Given the description of an element on the screen output the (x, y) to click on. 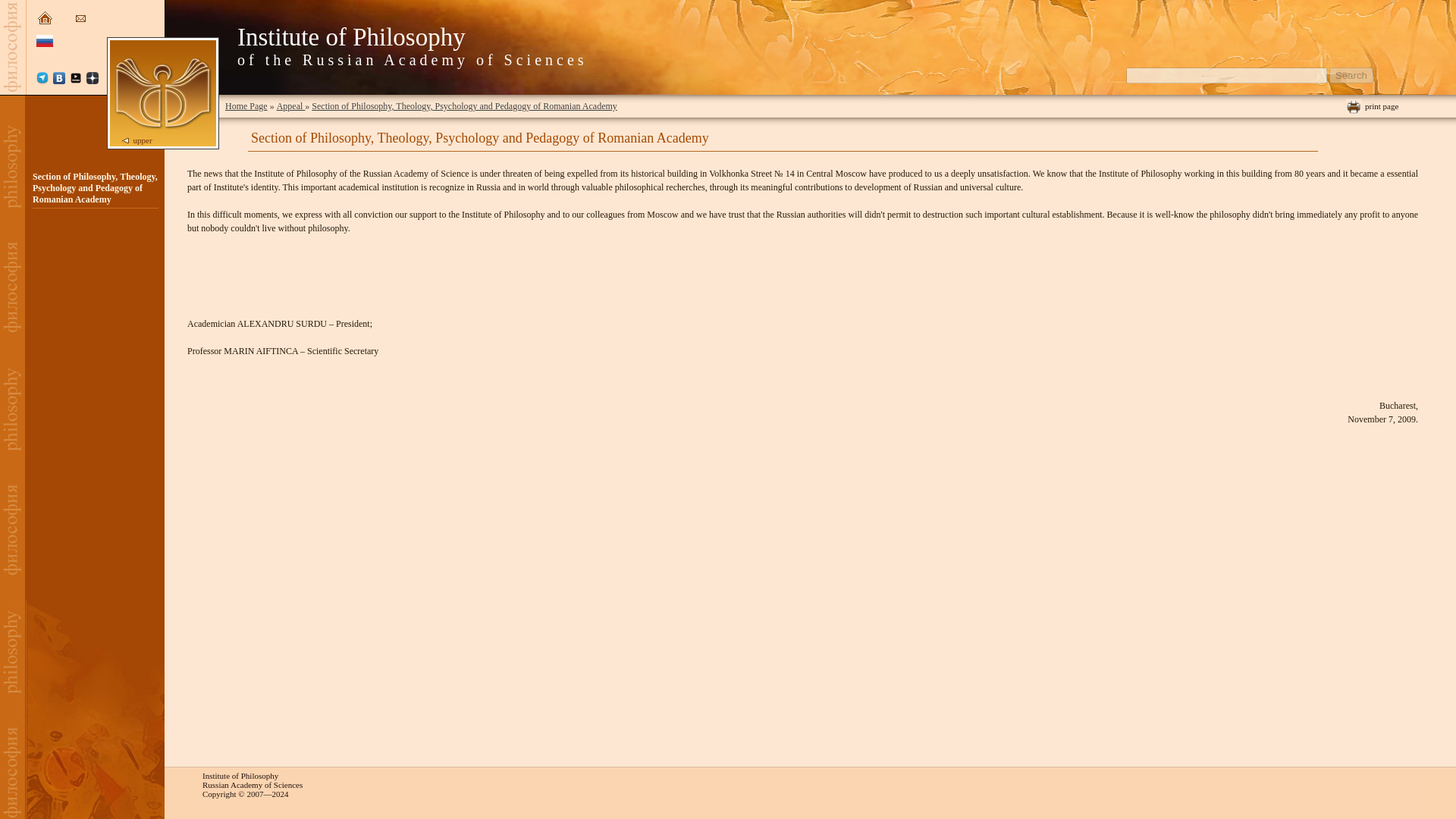
Search (1351, 75)
Home Page (246, 105)
Appeal (290, 105)
Search (1351, 75)
